Given the description of an element on the screen output the (x, y) to click on. 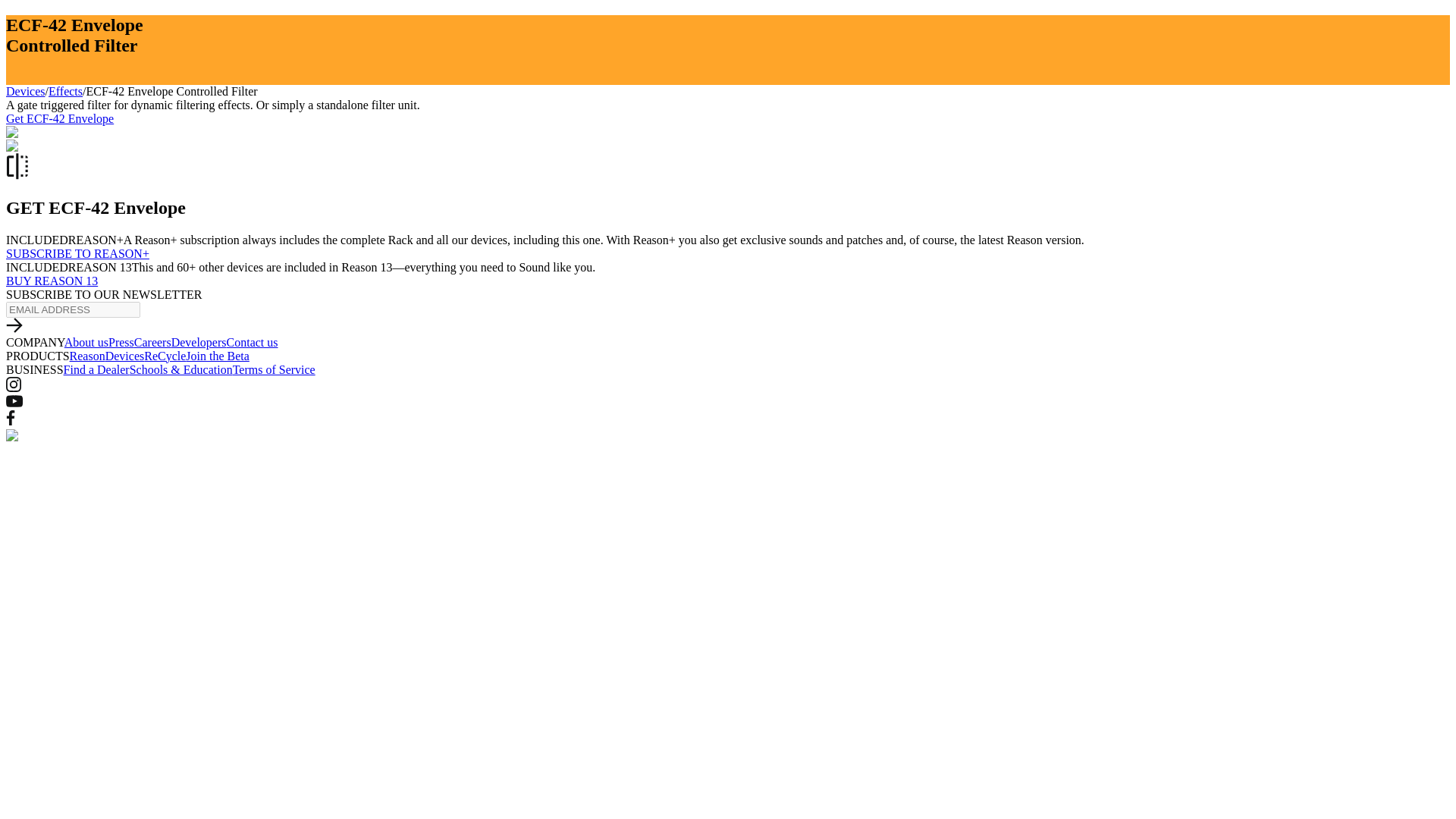
Devices (25, 91)
Reason (86, 355)
Contact us (252, 341)
About us (85, 341)
Join the Beta (217, 355)
BUY REASON 13 (51, 280)
Developers (199, 341)
Terms of Service (273, 369)
Effects (65, 91)
Careers (152, 341)
